Given the description of an element on the screen output the (x, y) to click on. 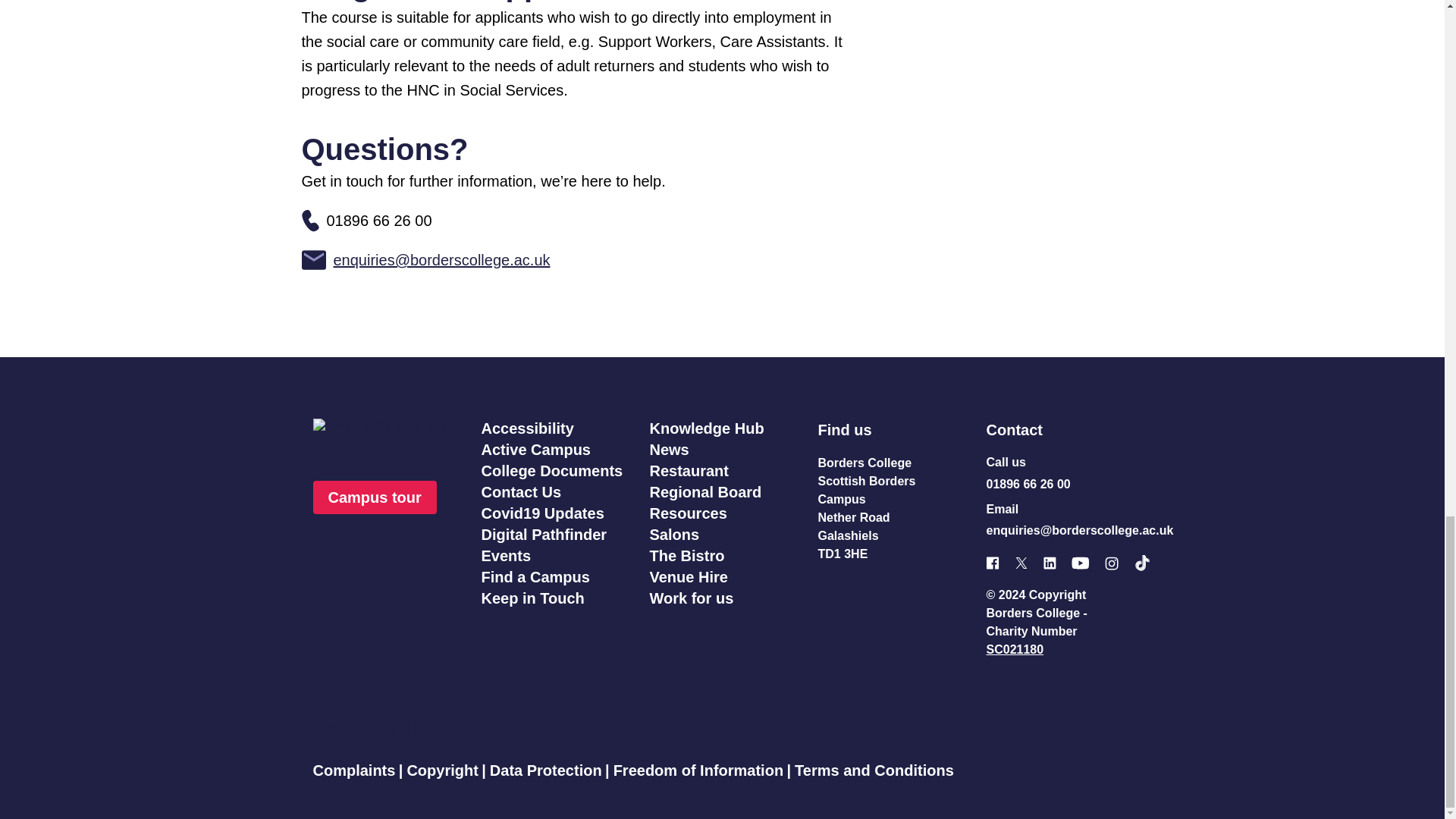
Hair and Beauty Salons at Borders College (673, 534)
Link to our Active Campus information (535, 449)
keep in touch with Borders College (531, 597)
The Bistro at Borders College (686, 555)
Events calendar (505, 555)
The Restaurant at Borders College (688, 470)
A link to news (668, 449)
Venue Hire at Borders College (687, 576)
Covid19 updates and information (542, 513)
